Given the description of an element on the screen output the (x, y) to click on. 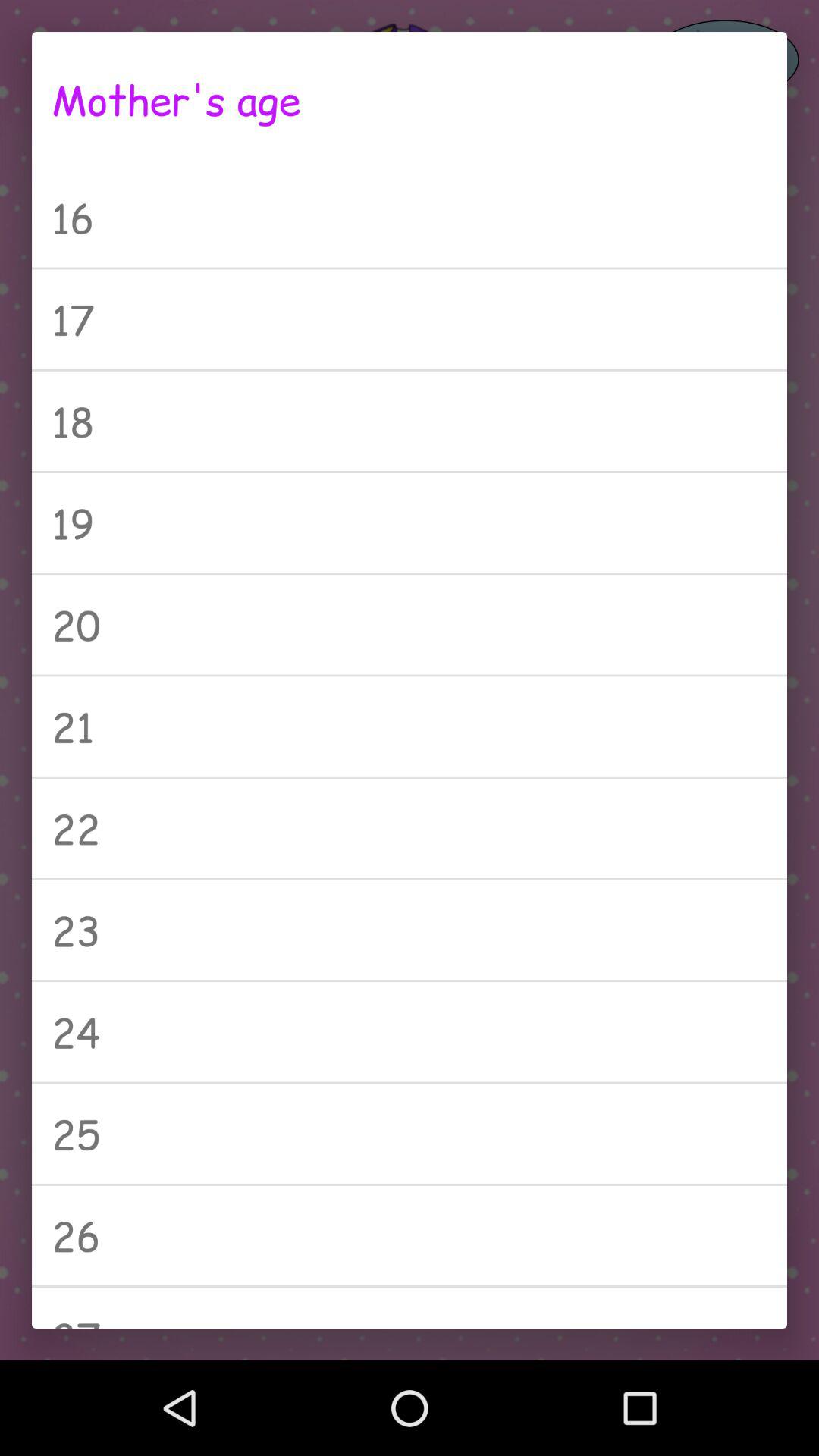
open icon above 17 item (409, 217)
